Given the description of an element on the screen output the (x, y) to click on. 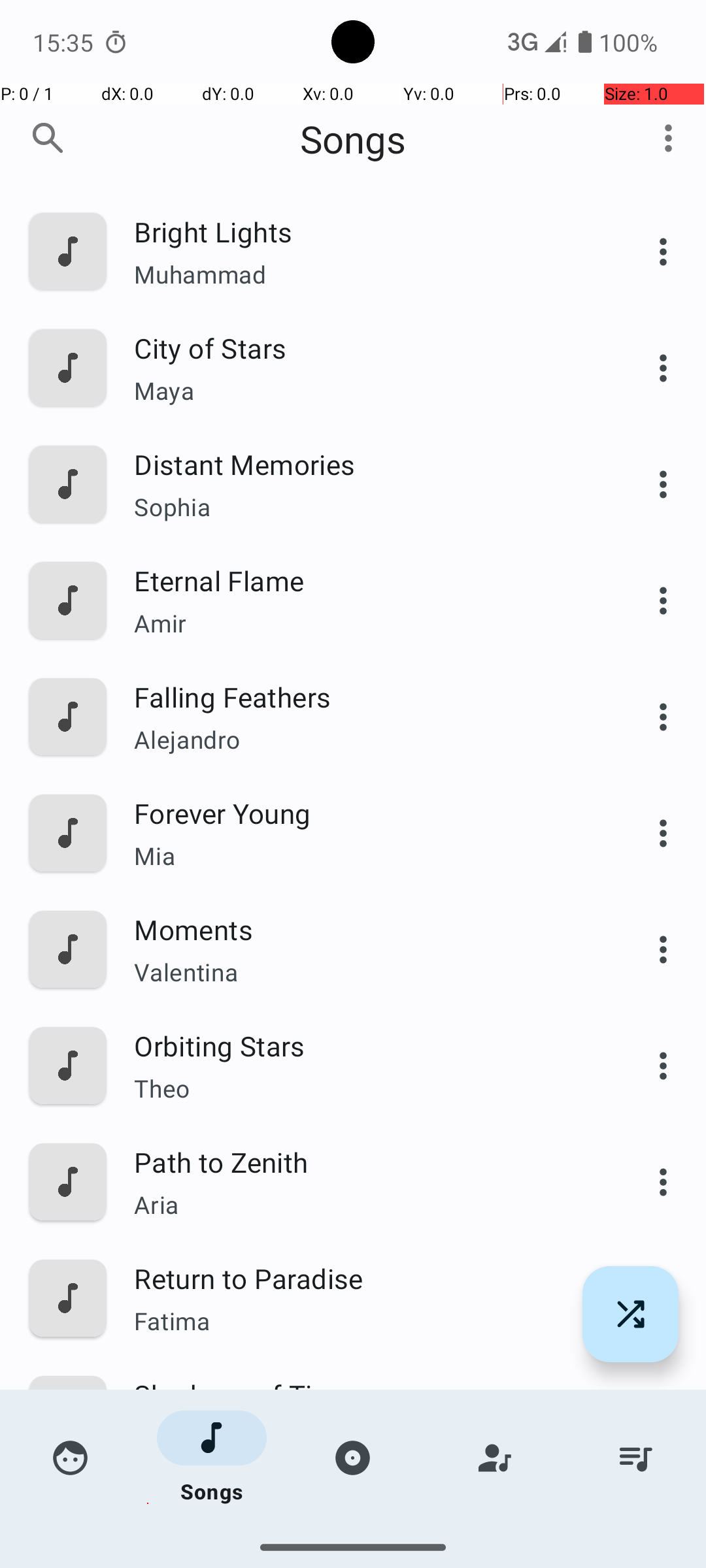
Bright Lights Element type: android.widget.TextView (363, 231)
Muhammad Element type: android.widget.TextView (363, 273)
City of Stars Element type: android.widget.TextView (363, 347)
Maya Element type: android.widget.TextView (363, 390)
Distant Memories Element type: android.widget.TextView (363, 463)
Sophia Element type: android.widget.TextView (363, 506)
Eternal Flame Element type: android.widget.TextView (363, 580)
Amir Element type: android.widget.TextView (363, 622)
Falling Feathers Element type: android.widget.TextView (363, 696)
Alejandro Element type: android.widget.TextView (363, 738)
Forever Young Element type: android.widget.TextView (363, 812)
Mia Element type: android.widget.TextView (363, 855)
Moments Element type: android.widget.TextView (363, 928)
Valentina Element type: android.widget.TextView (363, 971)
Orbiting Stars Element type: android.widget.TextView (363, 1045)
Theo Element type: android.widget.TextView (363, 1087)
Path to Zenith Element type: android.widget.TextView (363, 1161)
Aria Element type: android.widget.TextView (363, 1204)
Return to Paradise Element type: android.widget.TextView (363, 1277)
Fatima Element type: android.widget.TextView (363, 1320)
Shadows of Time Element type: android.widget.TextView (363, 1394)
Thomas Element type: android.widget.TextView (363, 1436)
Twilight Calling Element type: android.widget.TextView (363, 1510)
Sarah Element type: android.widget.TextView (363, 1538)
